Given the description of an element on the screen output the (x, y) to click on. 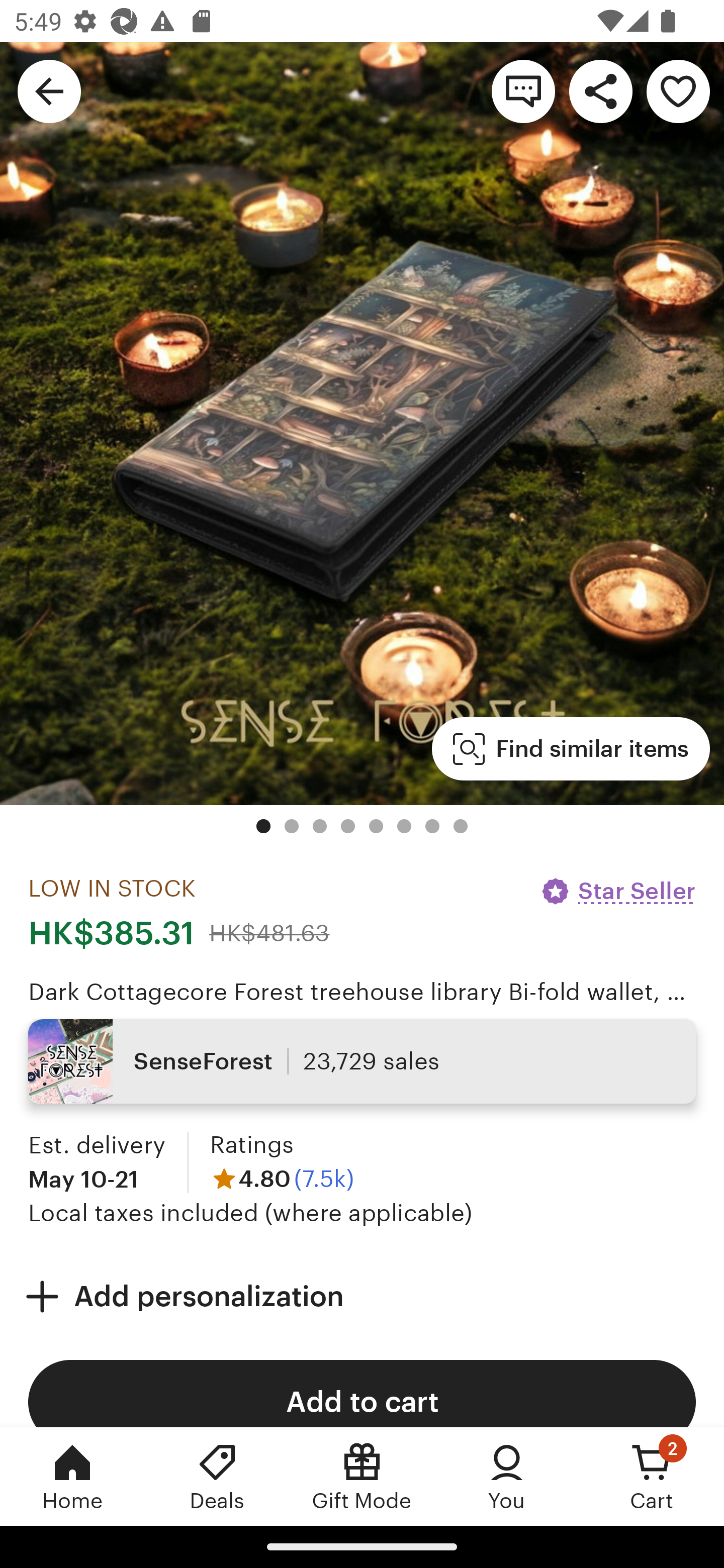
Navigate up (49, 90)
Contact shop (523, 90)
Share (600, 90)
Find similar items (571, 748)
Star Seller (617, 890)
SenseForest 23,729 sales (361, 1061)
Ratings (251, 1144)
4.80 (7.5k) (281, 1179)
Add personalization Add personalization Required (362, 1296)
Add to cart (361, 1392)
Deals (216, 1475)
Gift Mode (361, 1475)
You (506, 1475)
Cart, 2 new notifications Cart (651, 1475)
